Given the description of an element on the screen output the (x, y) to click on. 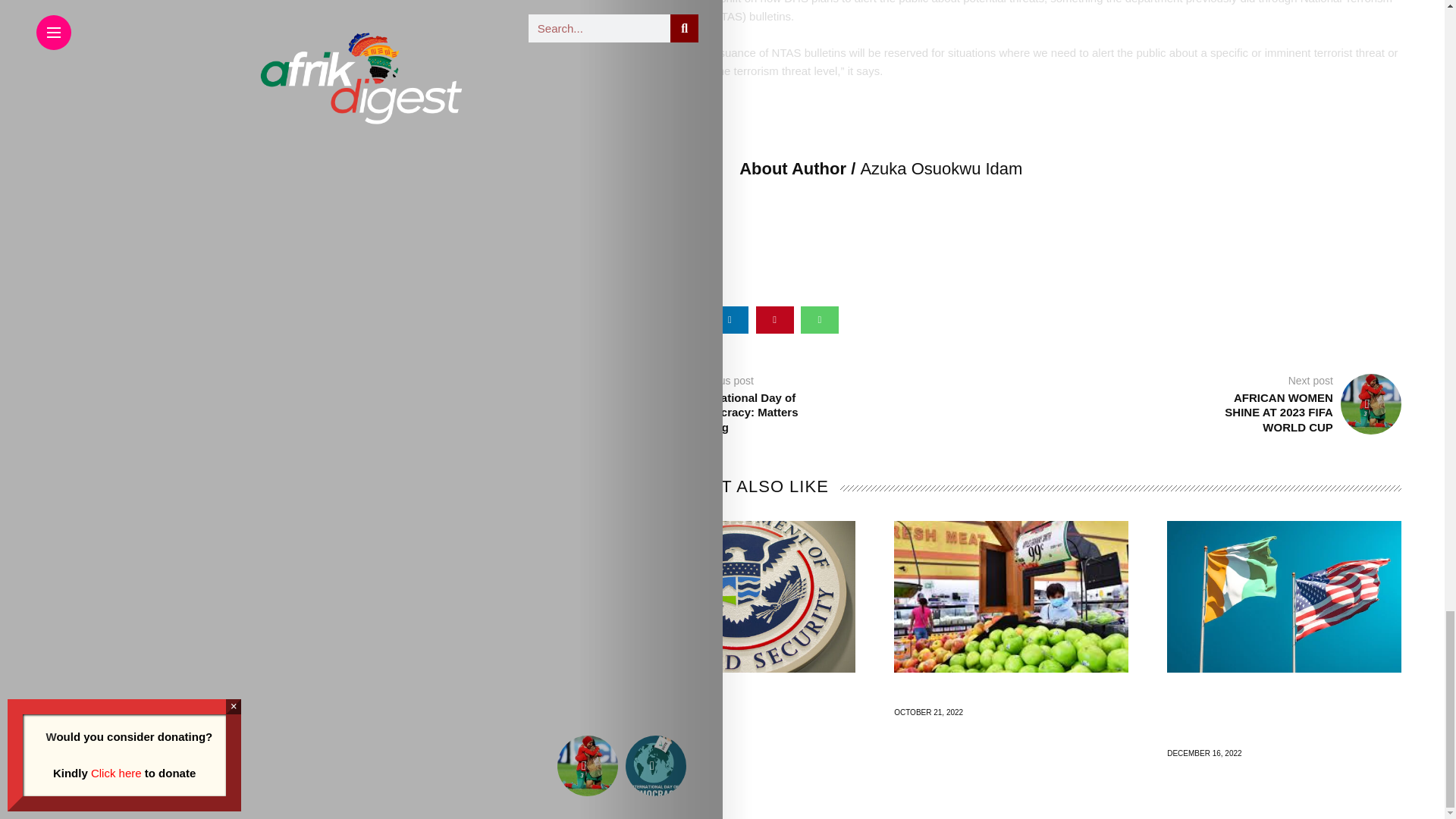
facebook (640, 319)
Posts by Azuka Osuokwu Idam (941, 168)
